Given the description of an element on the screen output the (x, y) to click on. 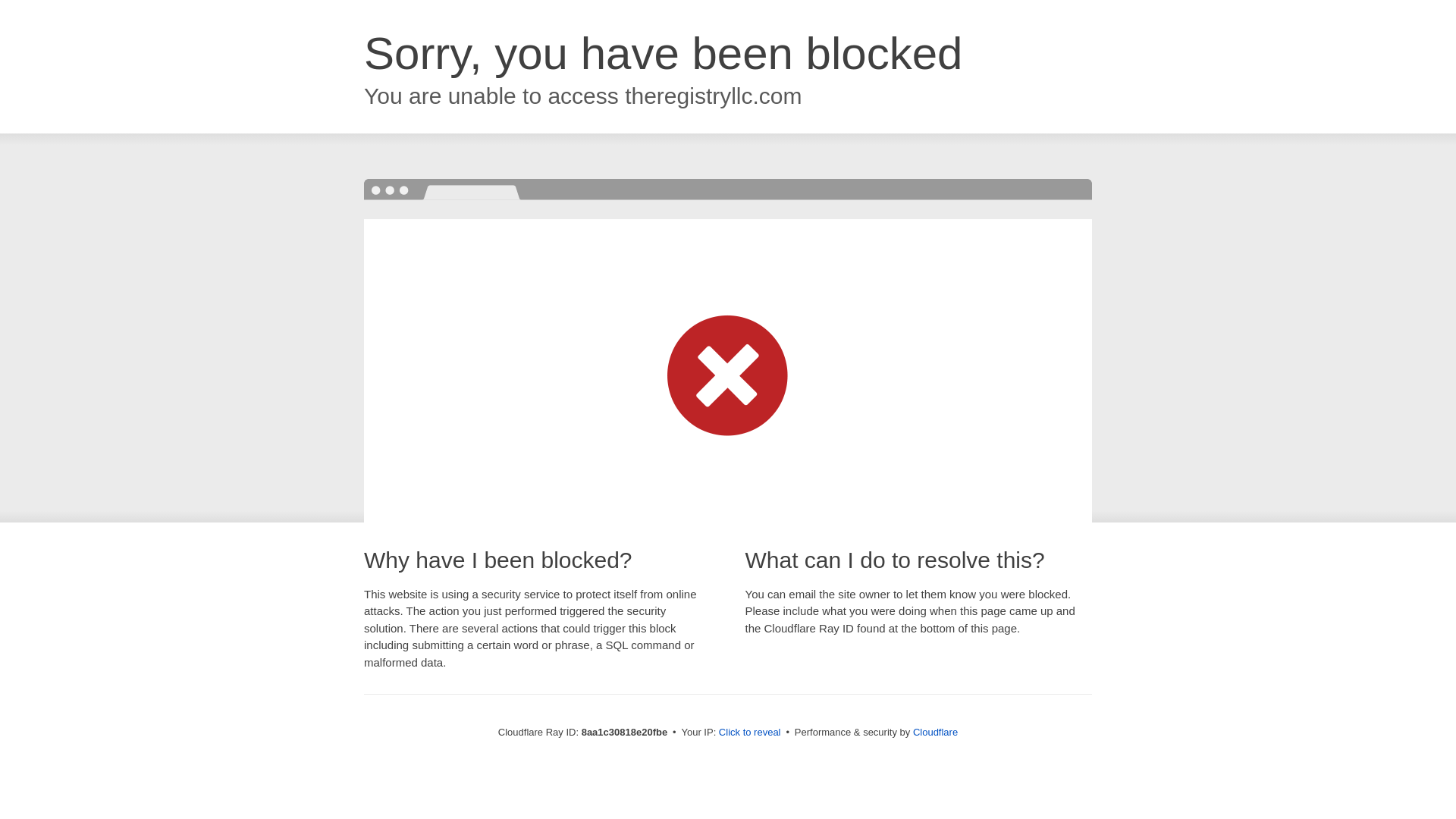
Click to reveal (749, 732)
Cloudflare (935, 731)
